Given the description of an element on the screen output the (x, y) to click on. 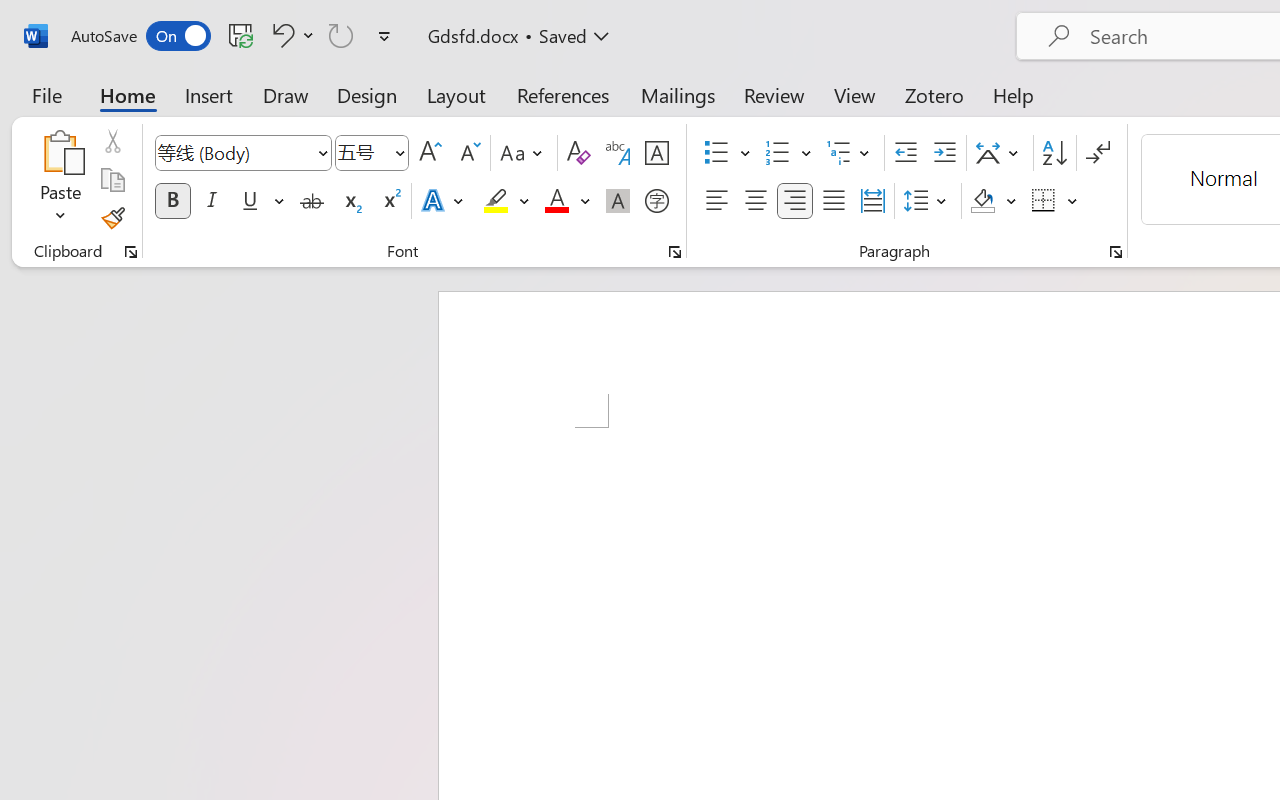
Show/Hide Editing Marks (1098, 153)
Format Painter (112, 218)
Bold (172, 201)
Align Left (716, 201)
